Given the description of an element on the screen output the (x, y) to click on. 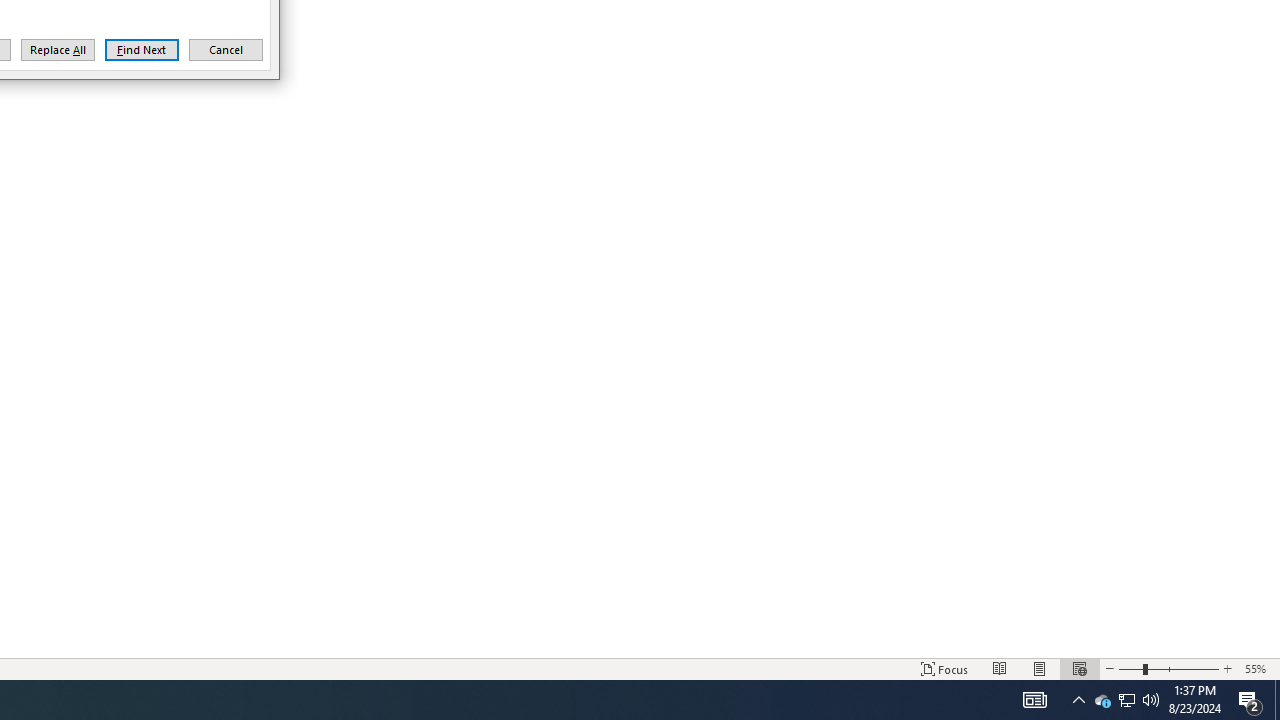
Cancel (1102, 699)
